Given the description of an element on the screen output the (x, y) to click on. 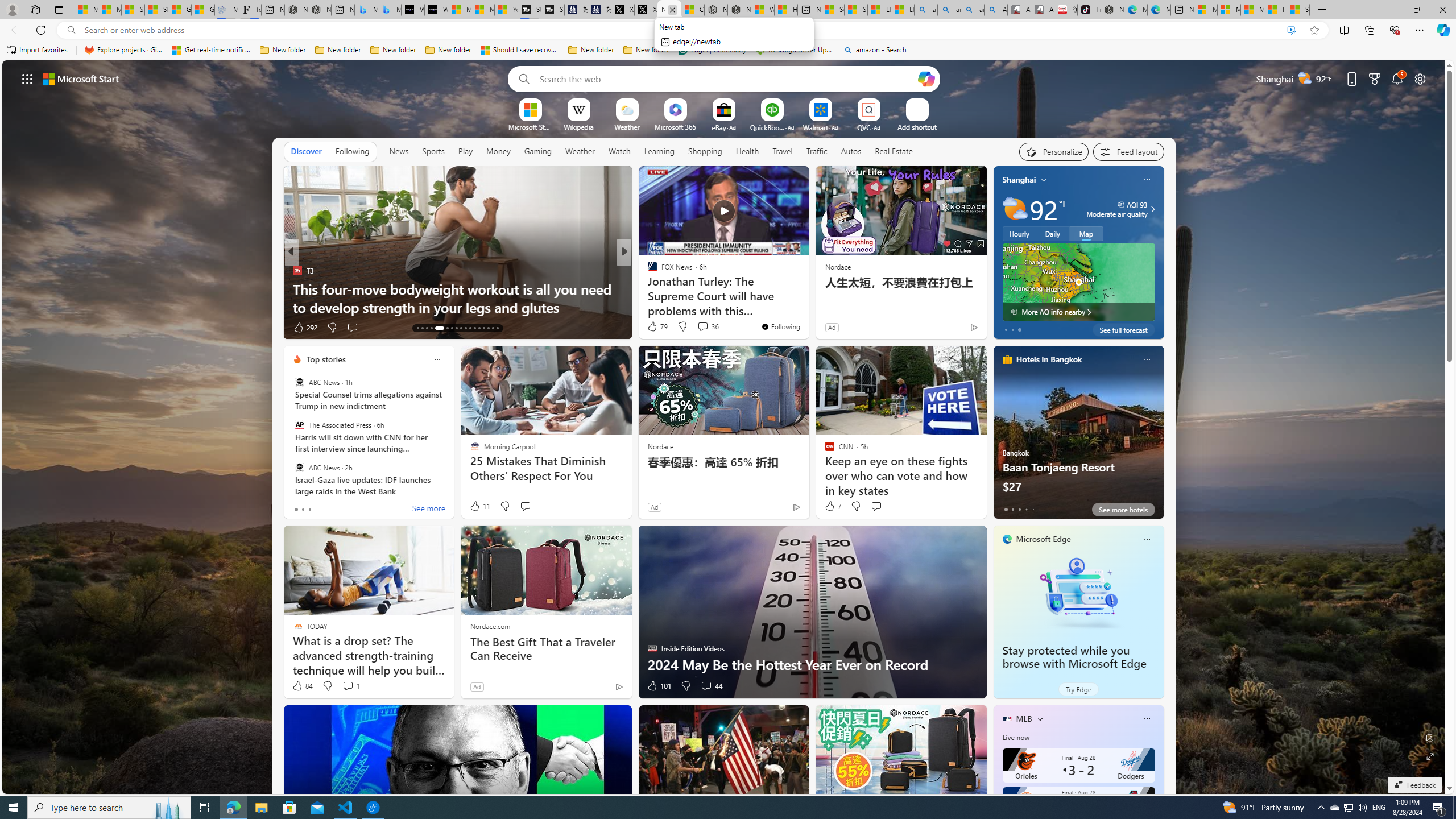
View comments 36 Comment (703, 326)
Forge of Empires (668, 288)
Following (352, 151)
See full forecast (1123, 329)
7 Like (831, 505)
AutomationID: tab-24 (474, 328)
You're following The Weather Channel (949, 329)
High Code File Format Apis (807, 307)
tab-1 (1012, 509)
View comments 103 Comment (703, 327)
Microsoft start (81, 78)
4 Like (651, 327)
Microsoft Bing Travel - Stays in Bangkok, Bangkok, Thailand (365, 9)
Moderate air quality (1150, 208)
